Given the description of an element on the screen output the (x, y) to click on. 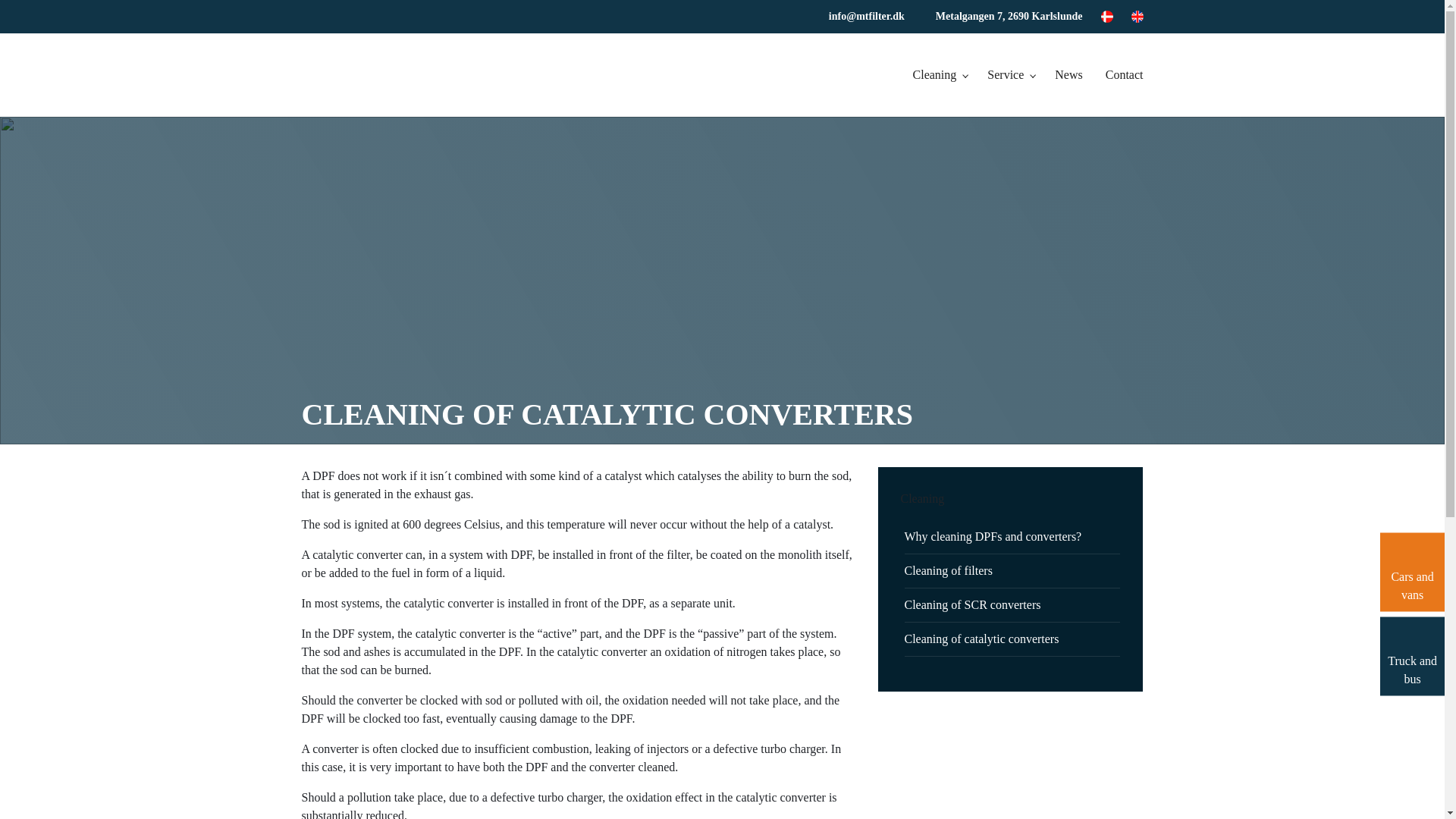
News (1064, 75)
Cleaning of SCR converters (972, 604)
Contact (1120, 75)
Cleaning (935, 75)
Metalgangen 7, 2690 Karlslunde (1009, 16)
Cleaning of filters (947, 570)
Cleaning of catalytic converters (981, 638)
Why cleaning DPFs and converters? (992, 535)
